Given the description of an element on the screen output the (x, y) to click on. 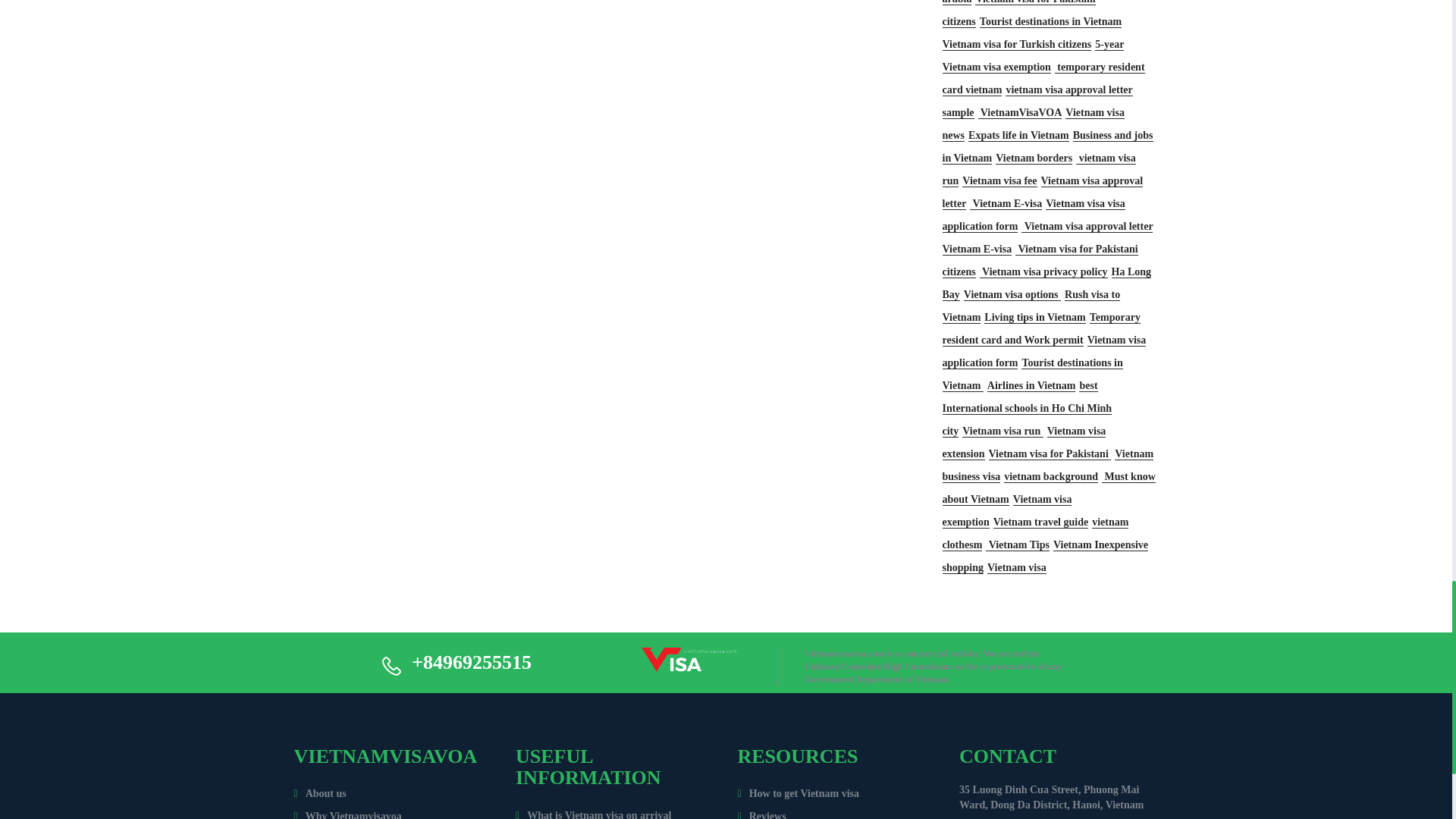
What is Vietnam visa on arrival (593, 814)
How to get Vietnam visa (797, 793)
About us (320, 793)
Why Vietnamvisavoa (347, 814)
Reviews (761, 814)
